Given the description of an element on the screen output the (x, y) to click on. 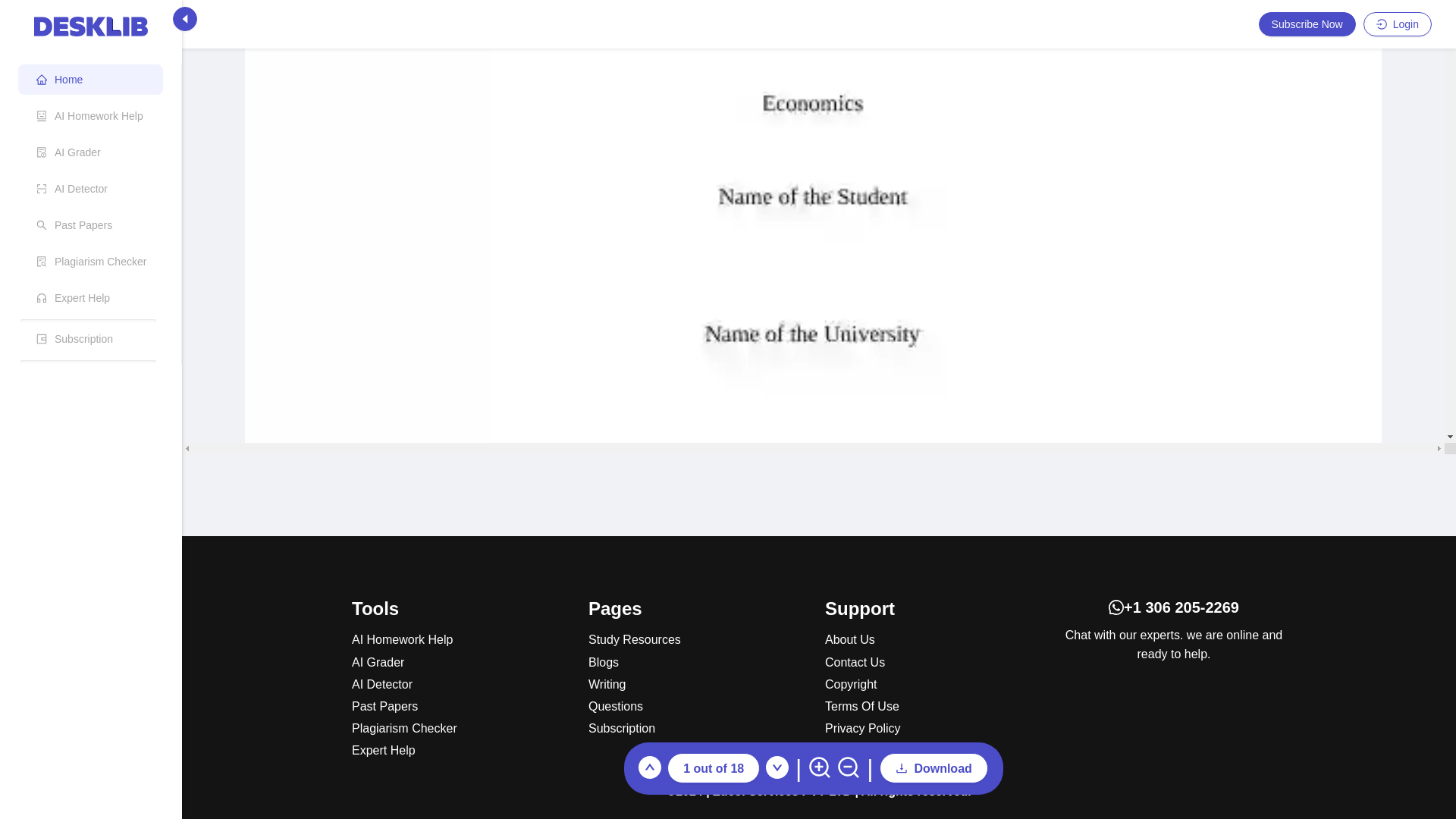
Download (933, 354)
1 out of 18 (713, 354)
